Given the description of an element on the screen output the (x, y) to click on. 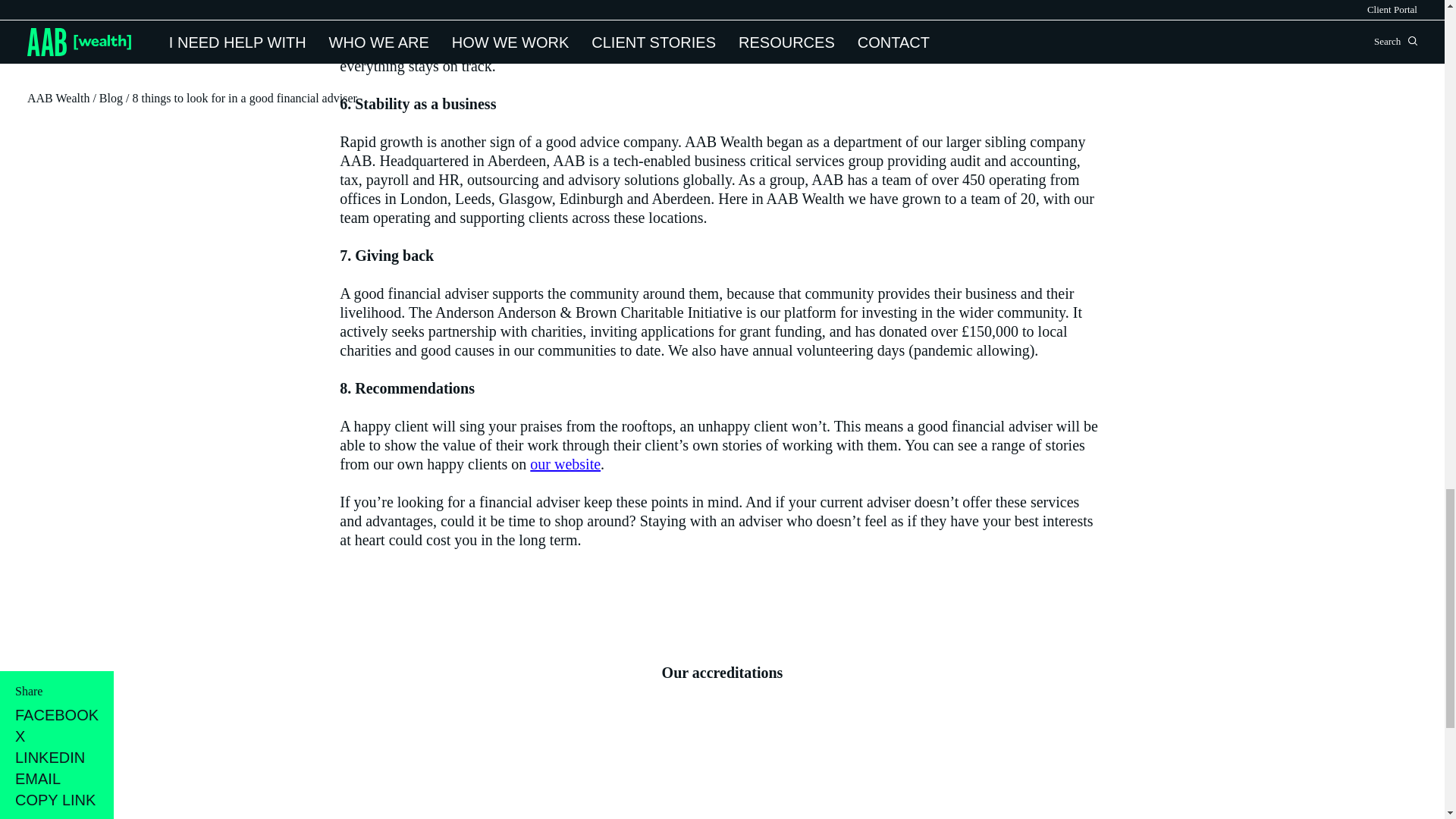
our website (564, 463)
